Given the description of an element on the screen output the (x, y) to click on. 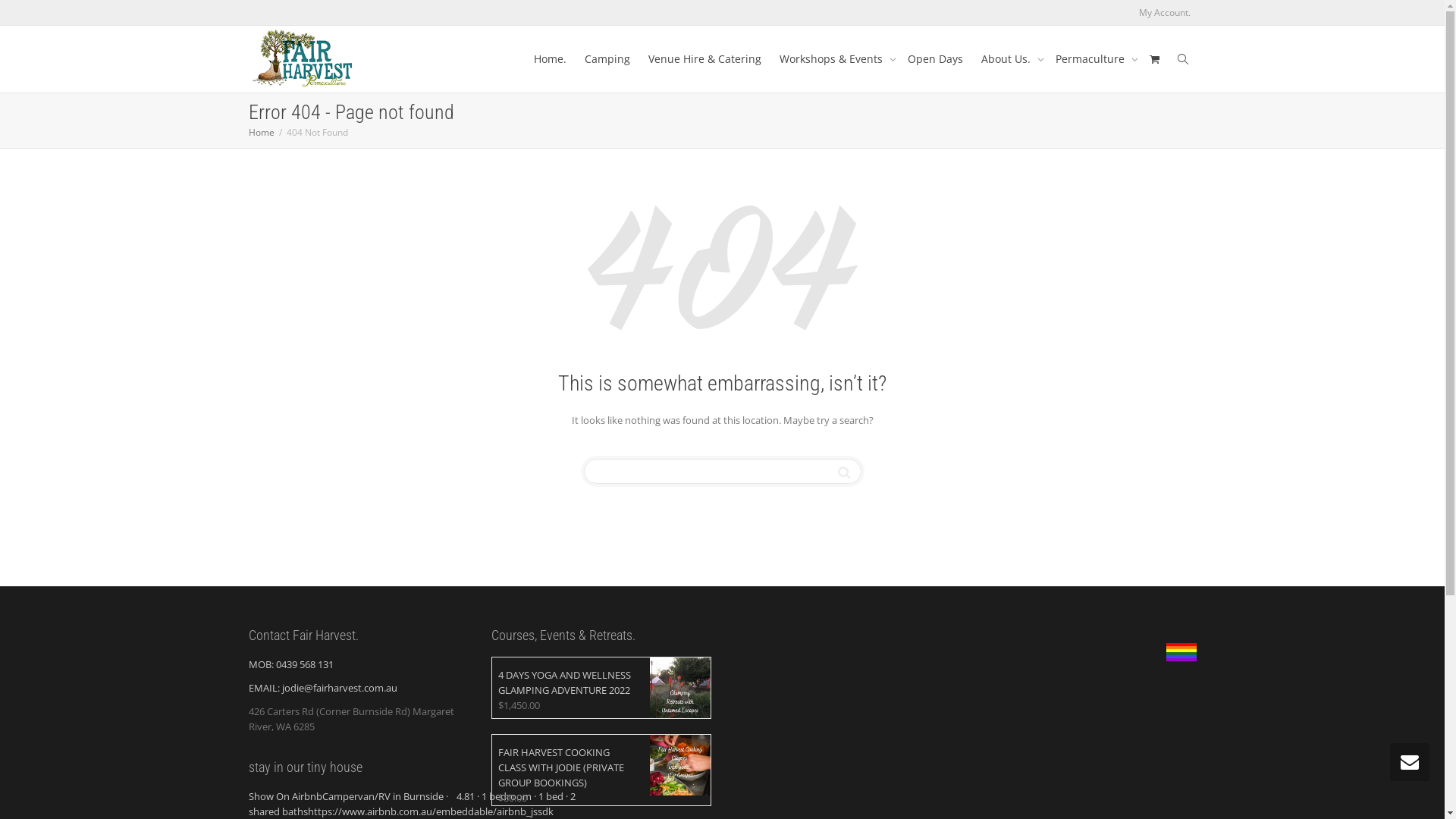
EMAIL: jodie@fairharvest.com.au Element type: text (322, 687)
Venue Hire & Catering Element type: text (703, 58)
Fair Harvest Permaculture Element type: hover (304, 58)
MOB: 0439 568 131 Element type: text (290, 664)
4 DAYS YOGA AND WELLNESS GLAMPING ADVENTURE 2022 Element type: text (603, 677)
Home Element type: text (261, 131)
My Account. Element type: text (1164, 12)
Show On Airbnb Element type: text (285, 796)
View cart Element type: hover (1154, 58)
Home. Element type: text (549, 58)
About Us. Element type: text (1009, 58)
Search Element type: text (843, 472)
Camping Element type: text (606, 58)
Open Days Element type: text (934, 58)
Permaculture Element type: text (1093, 58)
Workshops & Events Element type: text (834, 58)
https://www.airbnb.com.au/embeddable/airbnb_jssdk Element type: text (430, 811)
